Given the description of an element on the screen output the (x, y) to click on. 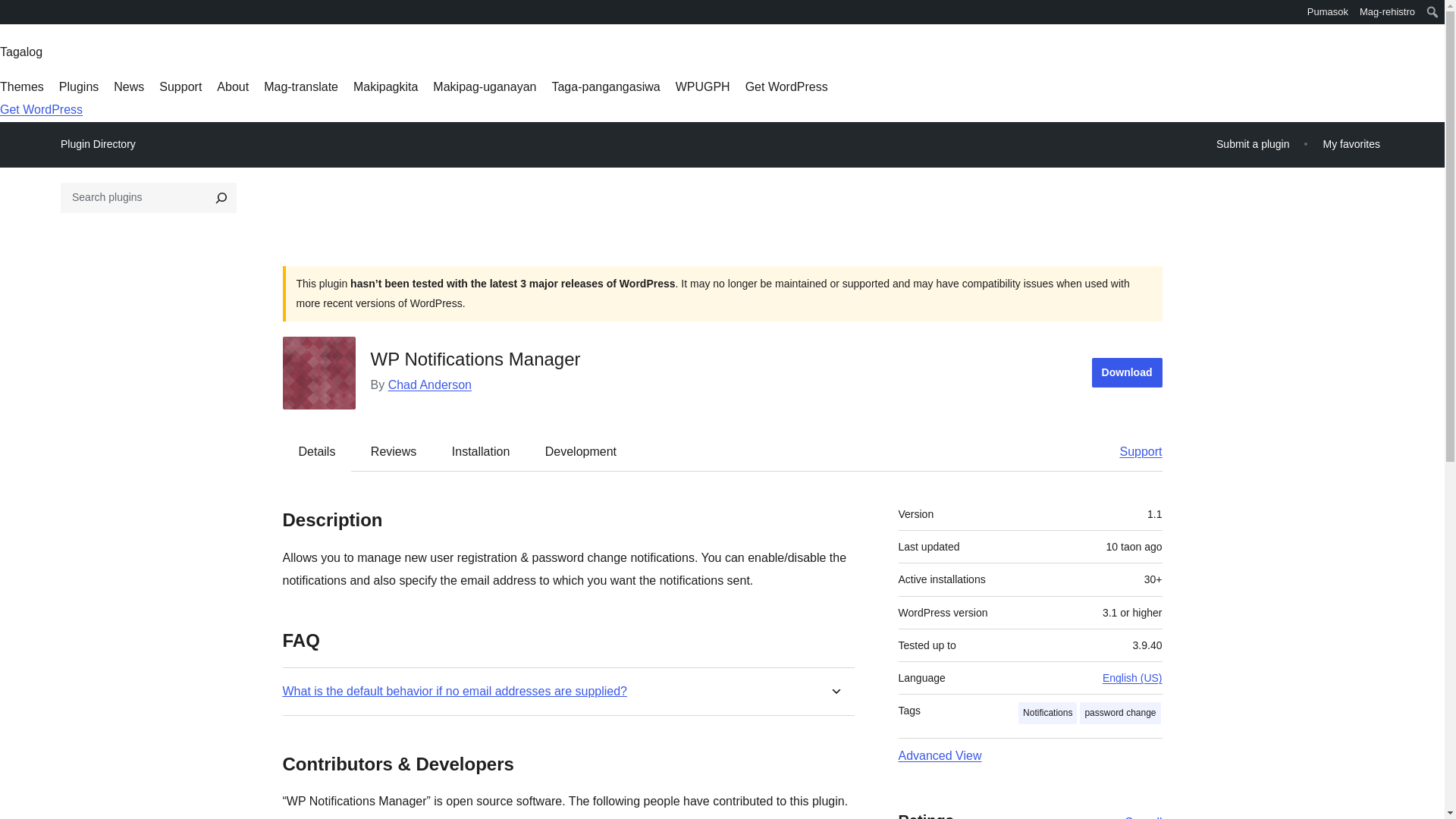
Details (316, 451)
WordPress.org (10, 10)
Plugins (79, 87)
Chad Anderson (429, 384)
My favorites (1351, 144)
Maghanap (24, 13)
Support (1132, 451)
WordPress.org (10, 16)
Themes (21, 87)
Get WordPress (41, 109)
Installation (480, 451)
News (128, 87)
Reviews (392, 451)
Get WordPress (786, 87)
Makipag-uganayan (483, 87)
